Given the description of an element on the screen output the (x, y) to click on. 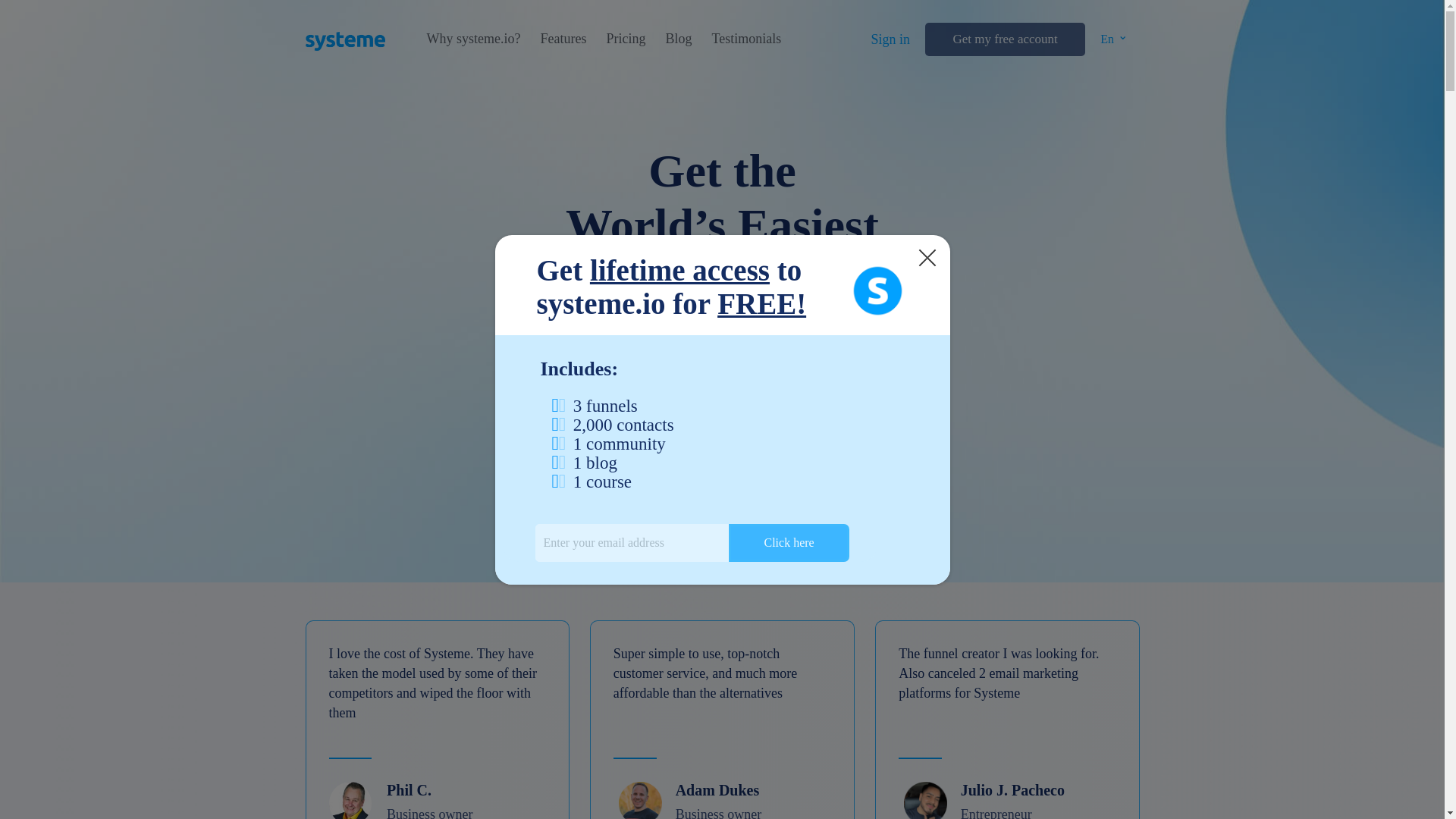
Blog (678, 38)
Sign in (890, 39)
Get my free account (1004, 39)
Pricing (625, 38)
Features (563, 38)
Testimonials (745, 38)
Why systeme.io? (472, 38)
